Given the description of an element on the screen output the (x, y) to click on. 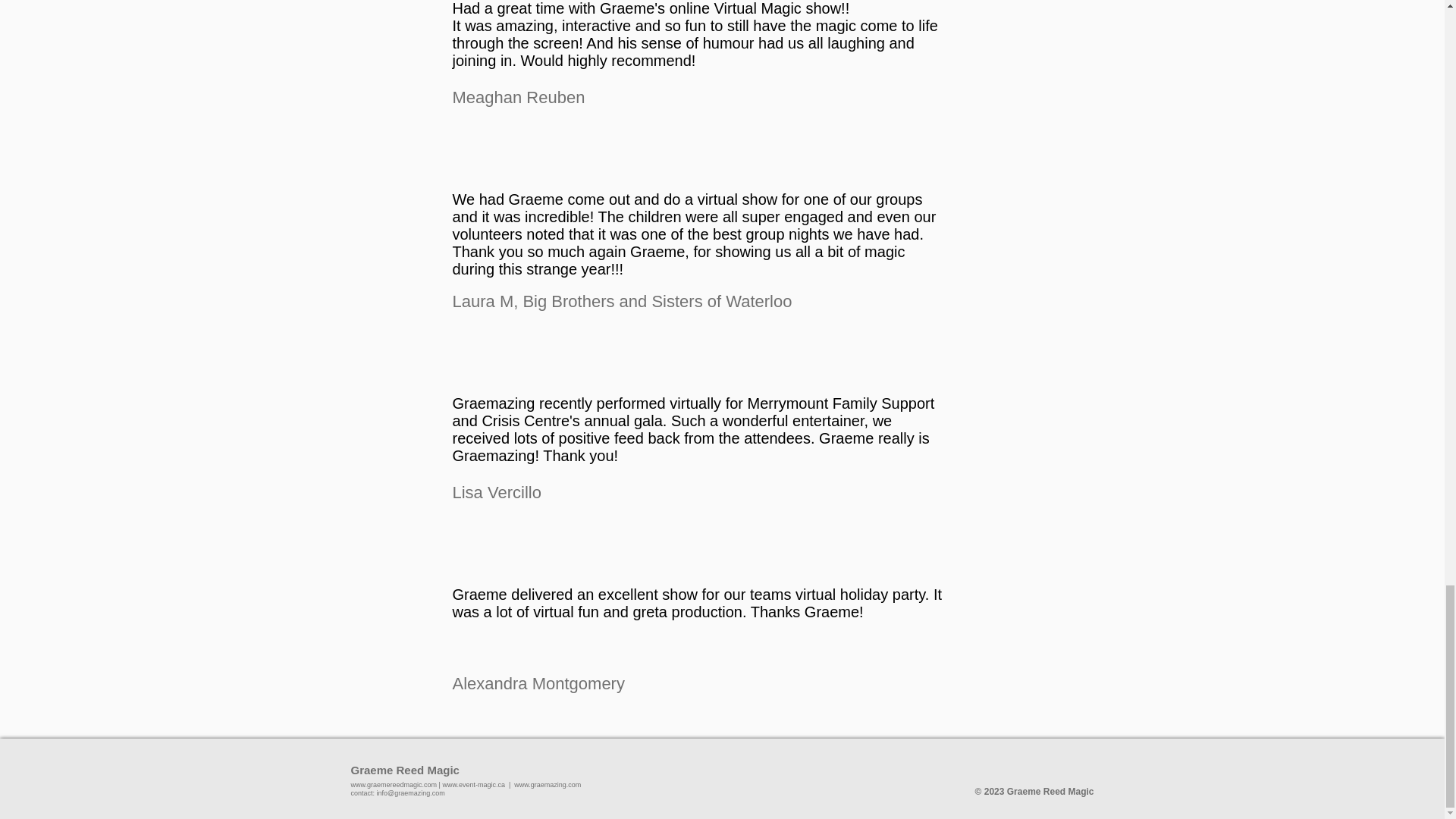
Meaghan Reuben (518, 97)
www.graemazing.com (546, 784)
www.graemereedmagic.com (393, 784)
www.event-magic.ca (473, 784)
